Given the description of an element on the screen output the (x, y) to click on. 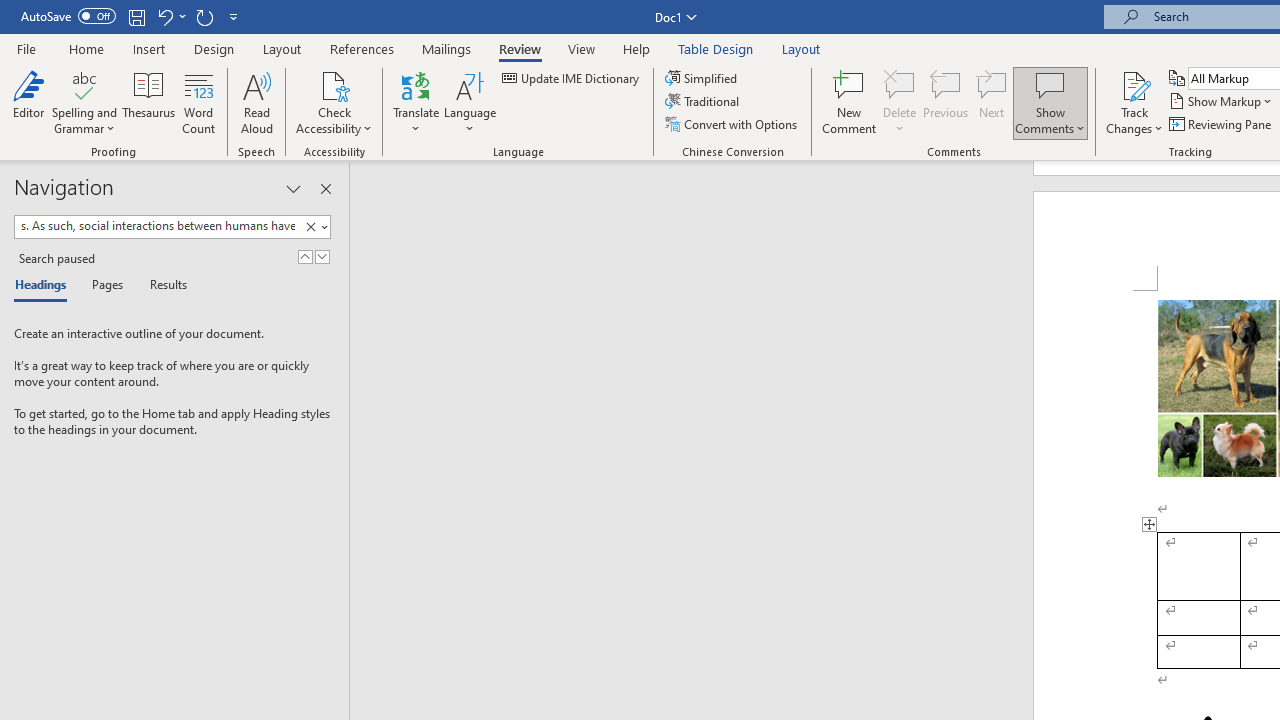
Language (470, 102)
Thesaurus... (148, 102)
Show Comments (1050, 84)
Reviewing Pane (1221, 124)
Clear (314, 227)
Spelling and Grammar (84, 102)
Convert with Options... (732, 124)
